Given the description of an element on the screen output the (x, y) to click on. 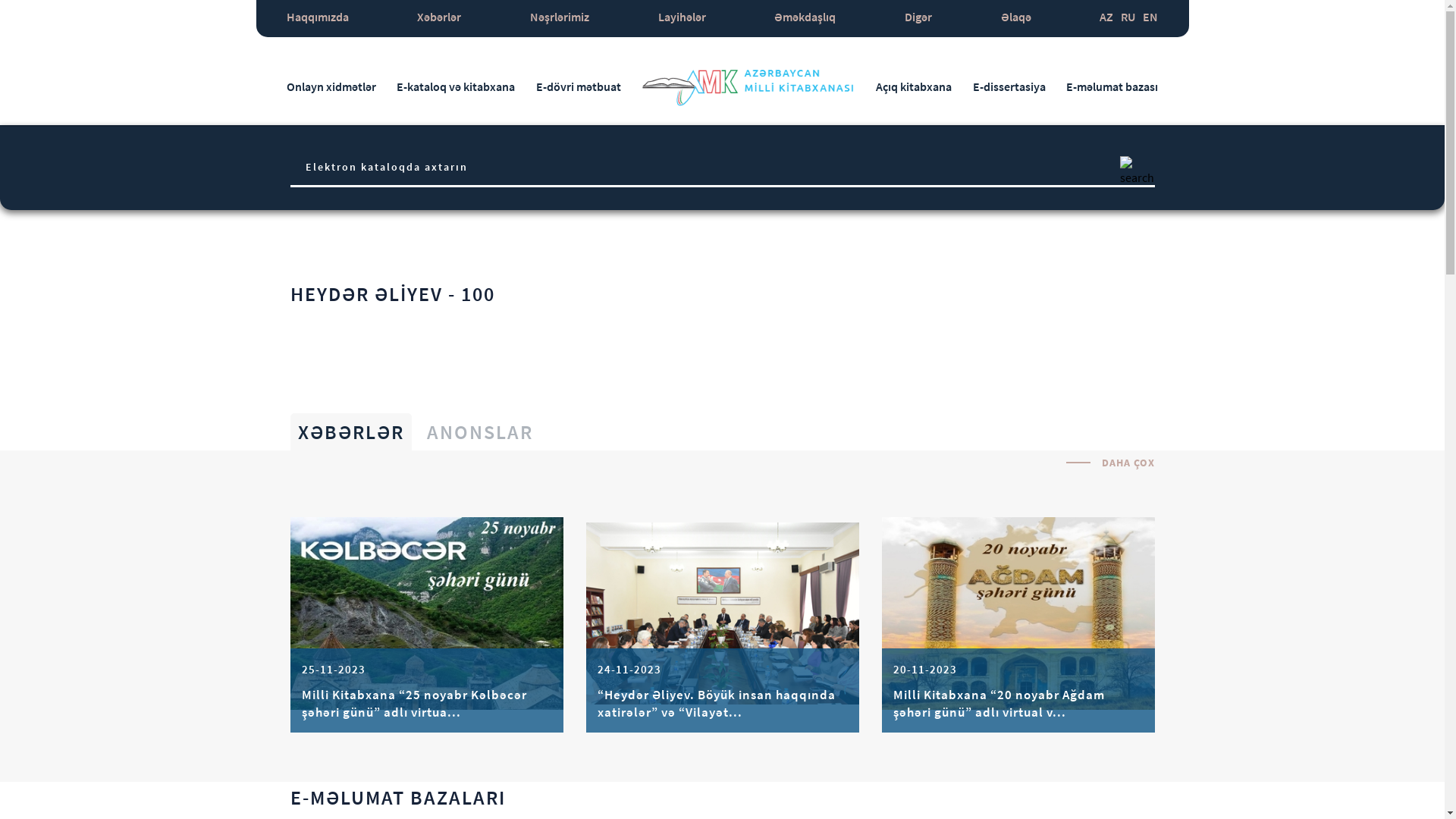
AZ Element type: text (1106, 18)
EN Element type: text (1149, 18)
E-dissertasiya Element type: text (1008, 86)
RU Element type: text (1127, 18)
ANONSLAR Element type: text (478, 431)
